Given the description of an element on the screen output the (x, y) to click on. 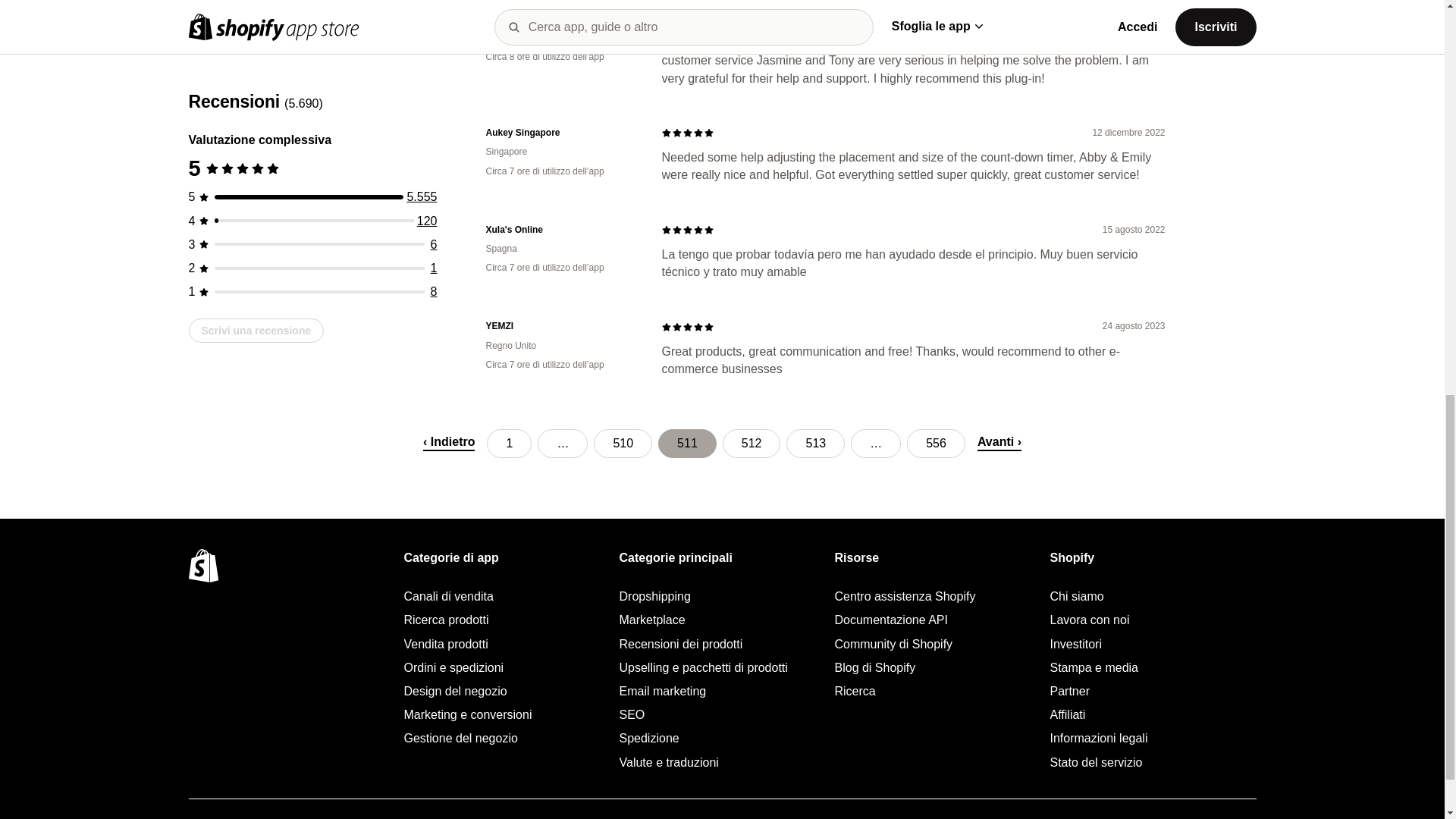
Aukey Singapore (560, 132)
YEMZI (560, 326)
customizeball (560, 18)
Xula's Online (560, 228)
